Given the description of an element on the screen output the (x, y) to click on. 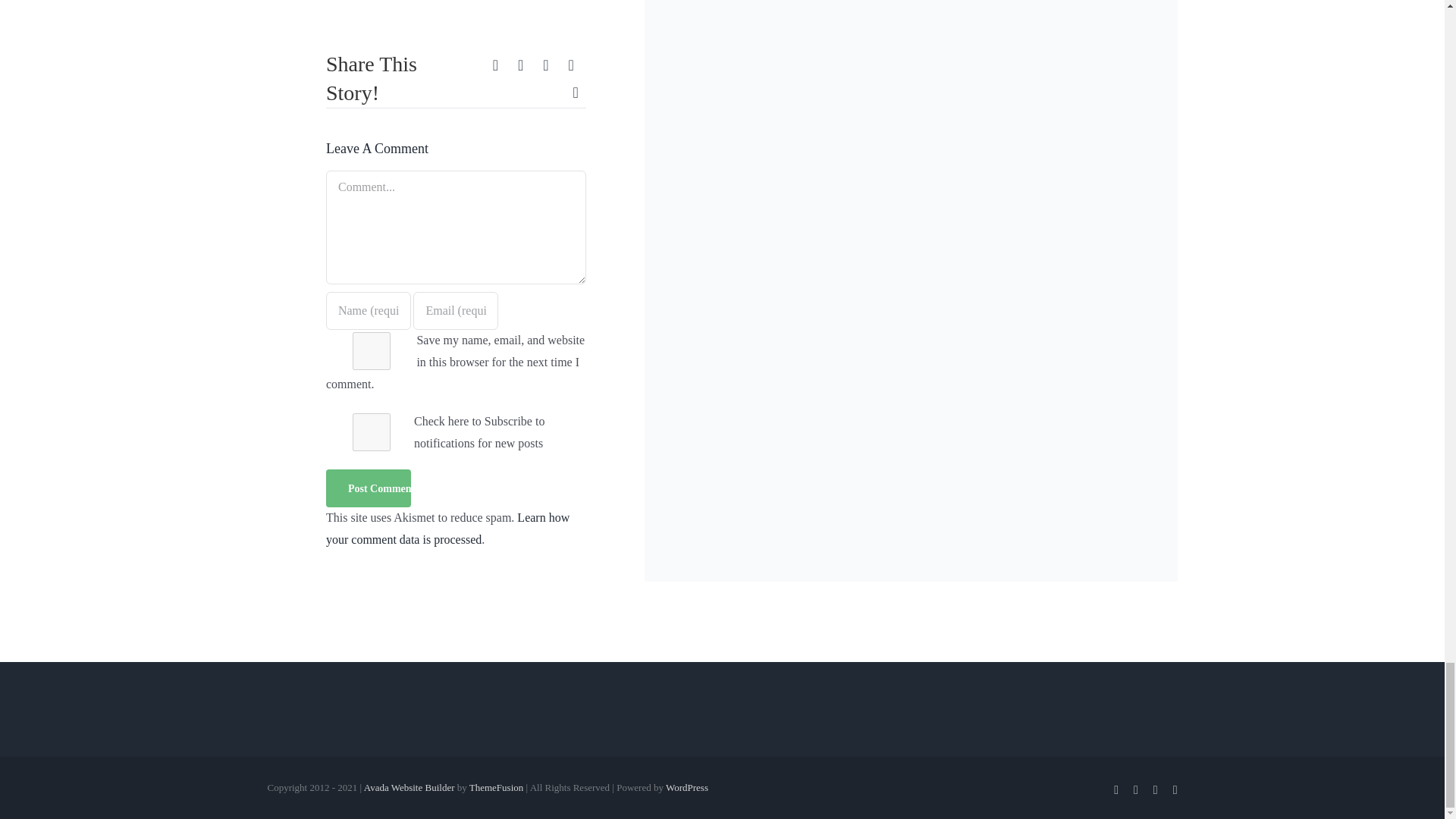
yes (371, 351)
Post Comment (368, 487)
1 (371, 432)
